Given the description of an element on the screen output the (x, y) to click on. 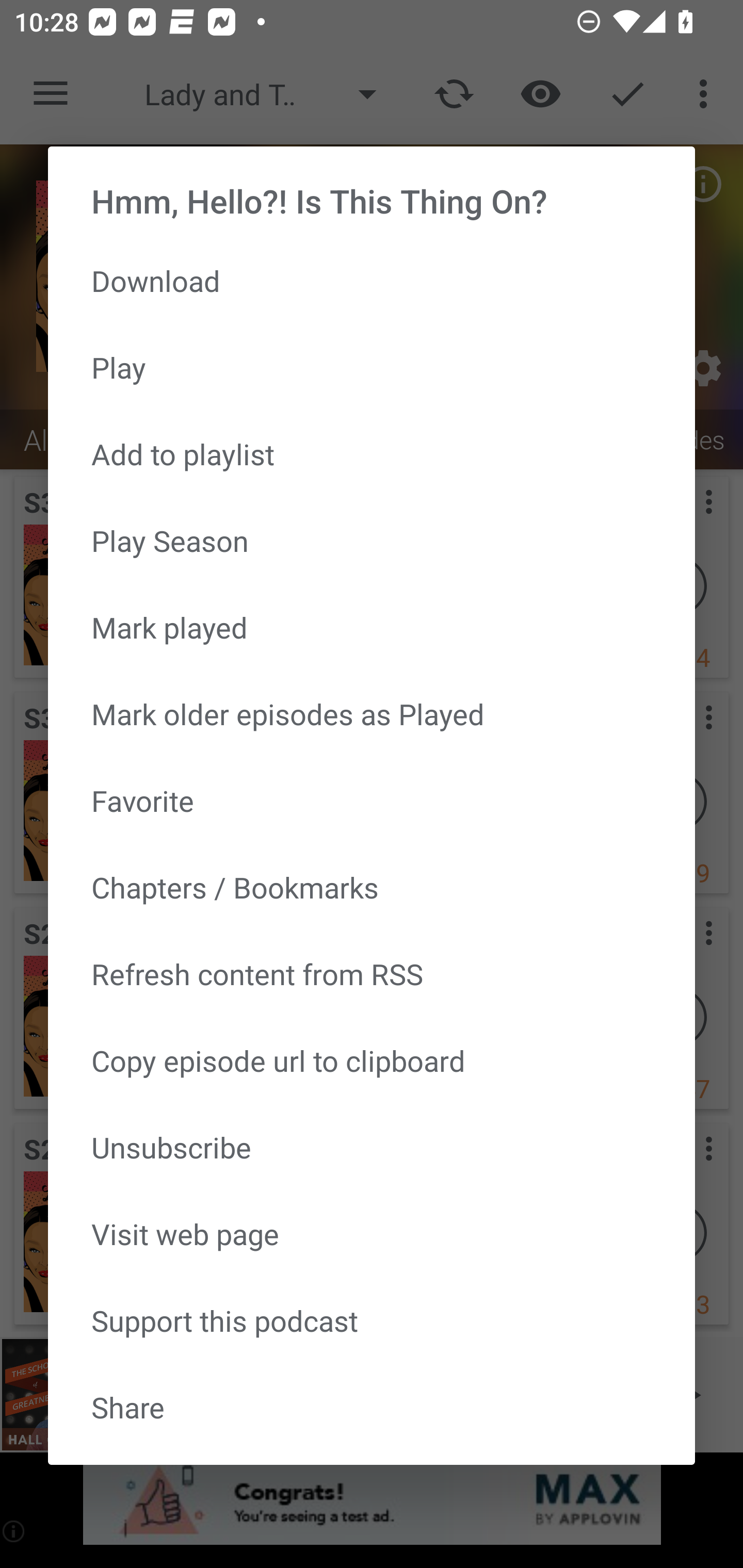
Download (371, 280)
Play (371, 367)
Add to playlist (371, 453)
Play Season (371, 540)
Mark played (371, 627)
Mark older episodes as Played (371, 714)
Favorite (371, 800)
Chapters / Bookmarks (371, 886)
Refresh content from RSS (371, 973)
Copy episode url to clipboard (371, 1060)
Unsubscribe (371, 1146)
Visit web page (371, 1233)
Support this podcast (371, 1320)
Share (371, 1407)
